Given the description of an element on the screen output the (x, y) to click on. 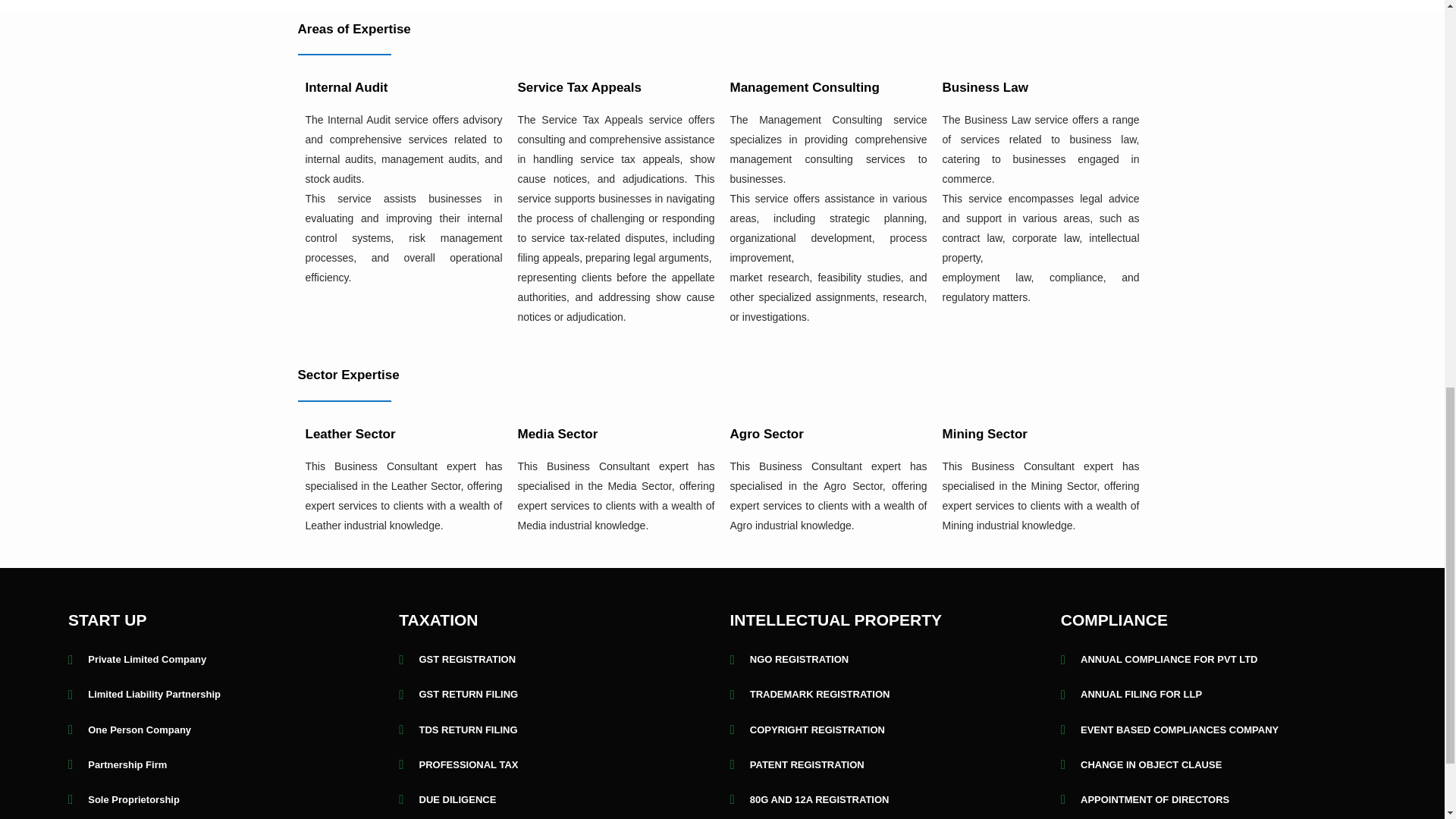
Limited Liability Partnership (226, 694)
Private Limited Company (226, 659)
TRADEMARK REGISTRATION (887, 694)
EVENT BASED COMPLIANCES COMPANY (1218, 730)
TDS RETURN FILING (556, 730)
APPOINTMENT OF DIRECTORS (1218, 800)
DUE DILIGENCE (556, 800)
One Person Company (226, 730)
PATENT REGISTRATION (887, 764)
GST REGISTRATION (556, 659)
